Given the description of an element on the screen output the (x, y) to click on. 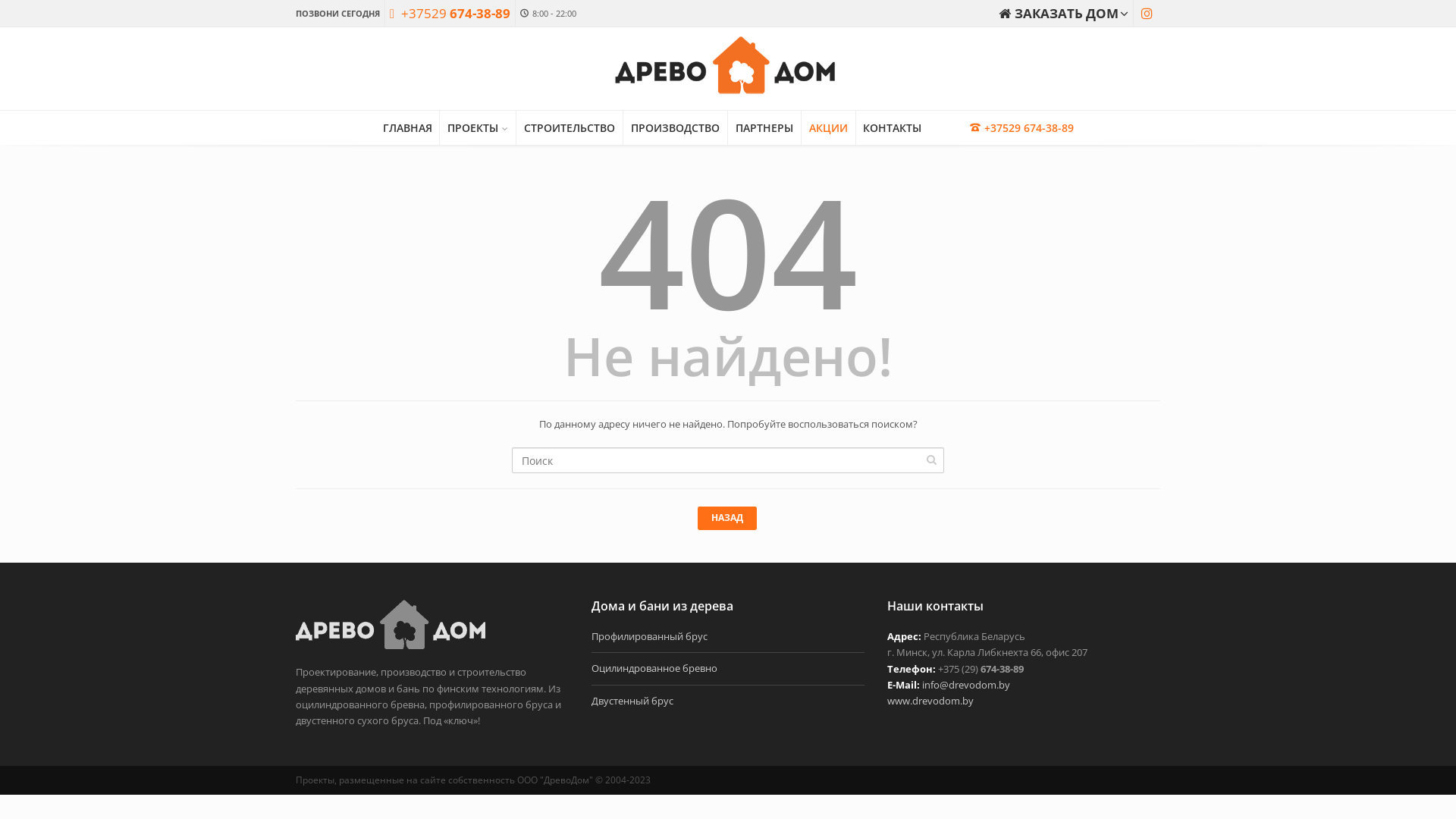
+37529 674-38-89 Element type: text (1021, 127)
+37529 674-38-89 Element type: text (449, 13)
info@drevodom.by Element type: text (966, 684)
www.drevodom.by Element type: text (930, 700)
